Given the description of an element on the screen output the (x, y) to click on. 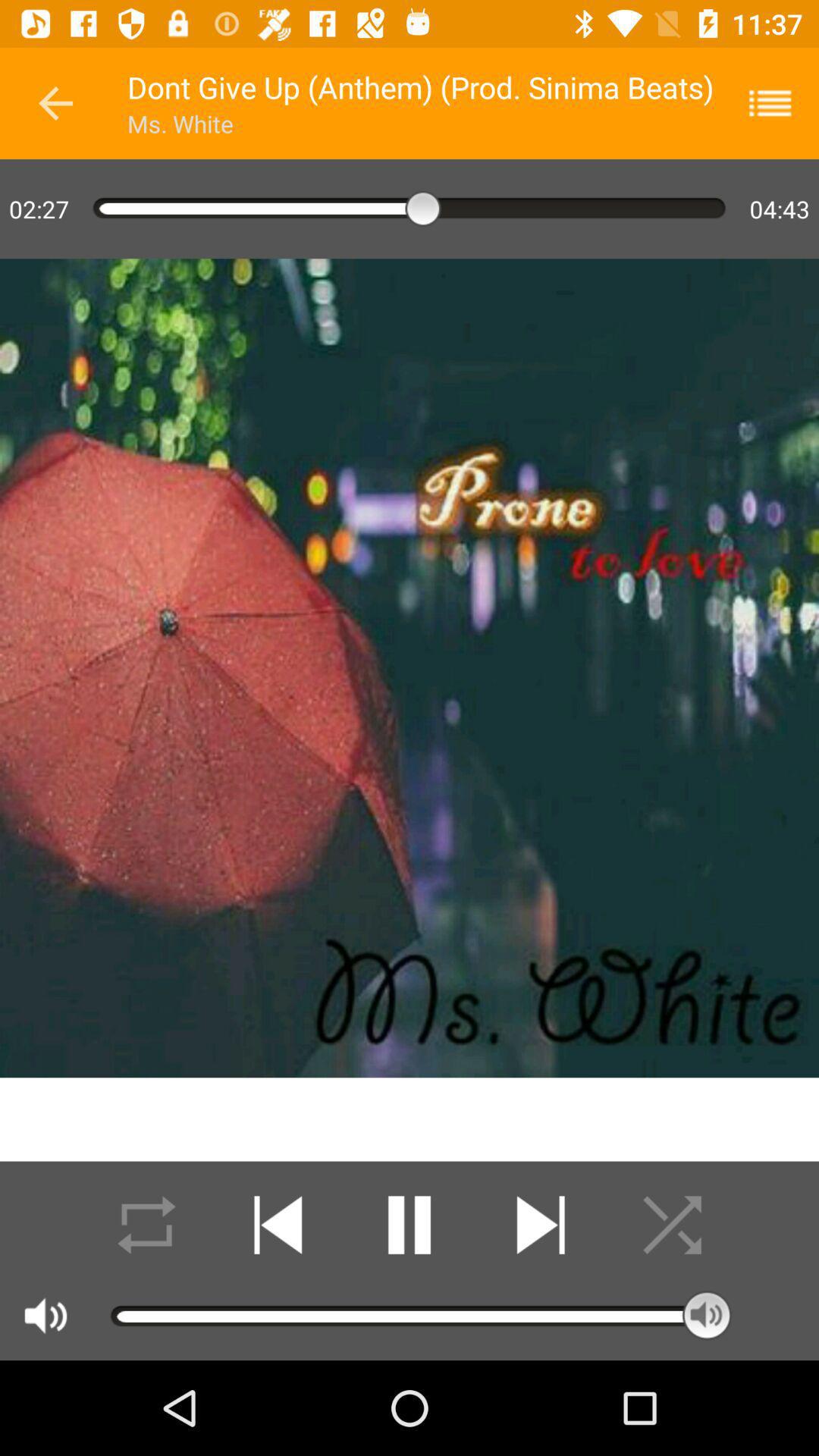
go to next song (540, 1224)
